Given the description of an element on the screen output the (x, y) to click on. 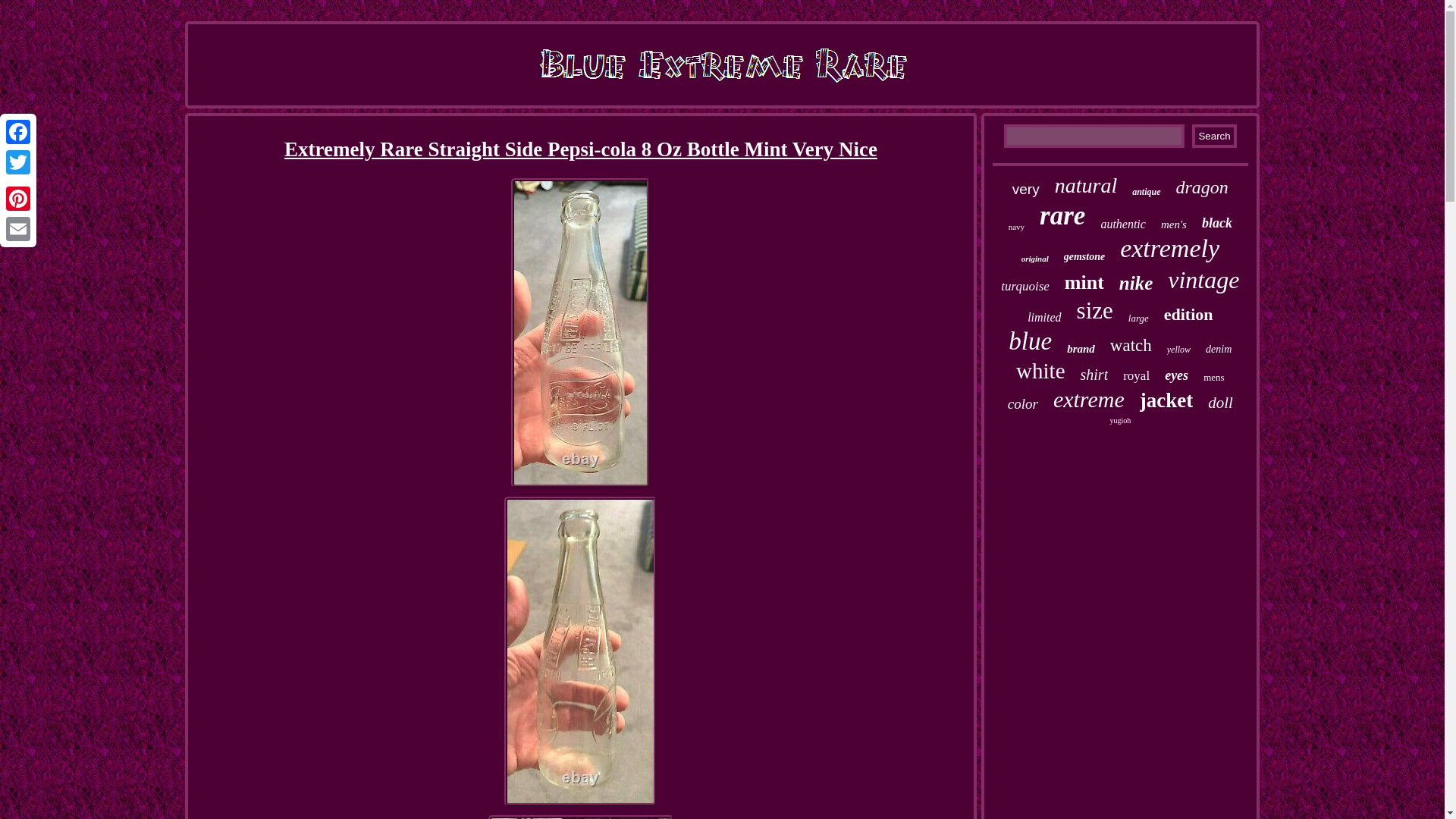
Email (17, 228)
extremely (1169, 248)
black (1216, 222)
original (1035, 257)
antique (1146, 192)
Pinterest (17, 198)
authentic (1122, 223)
men's (1173, 224)
navy (1017, 225)
natural (1085, 185)
Twitter (17, 162)
Search (1214, 136)
rare (1061, 215)
